Given the description of an element on the screen output the (x, y) to click on. 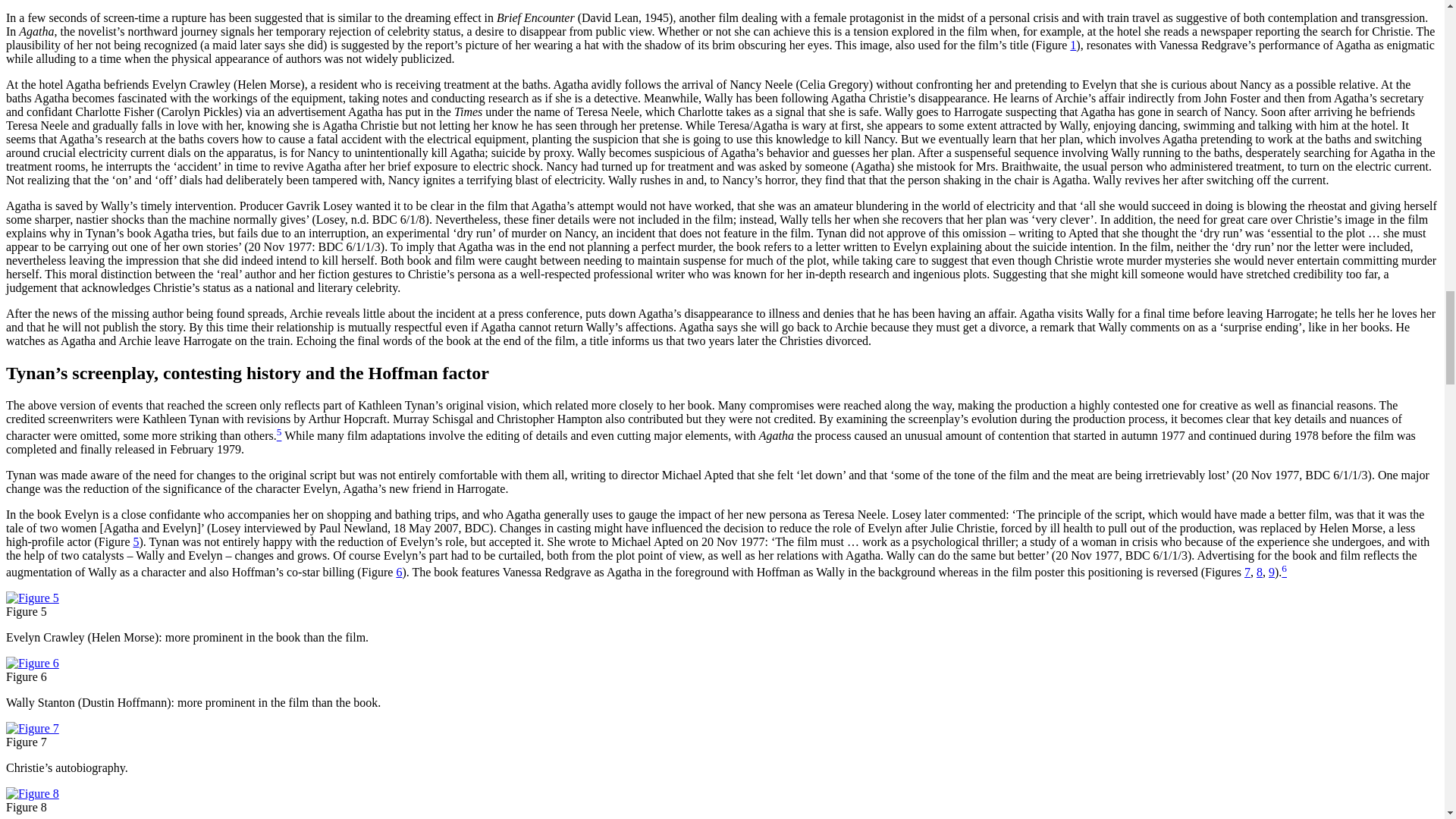
Figure 6 (32, 662)
Figure 8 (32, 793)
Figure 7 (32, 727)
Figure 5 (32, 597)
